Given the description of an element on the screen output the (x, y) to click on. 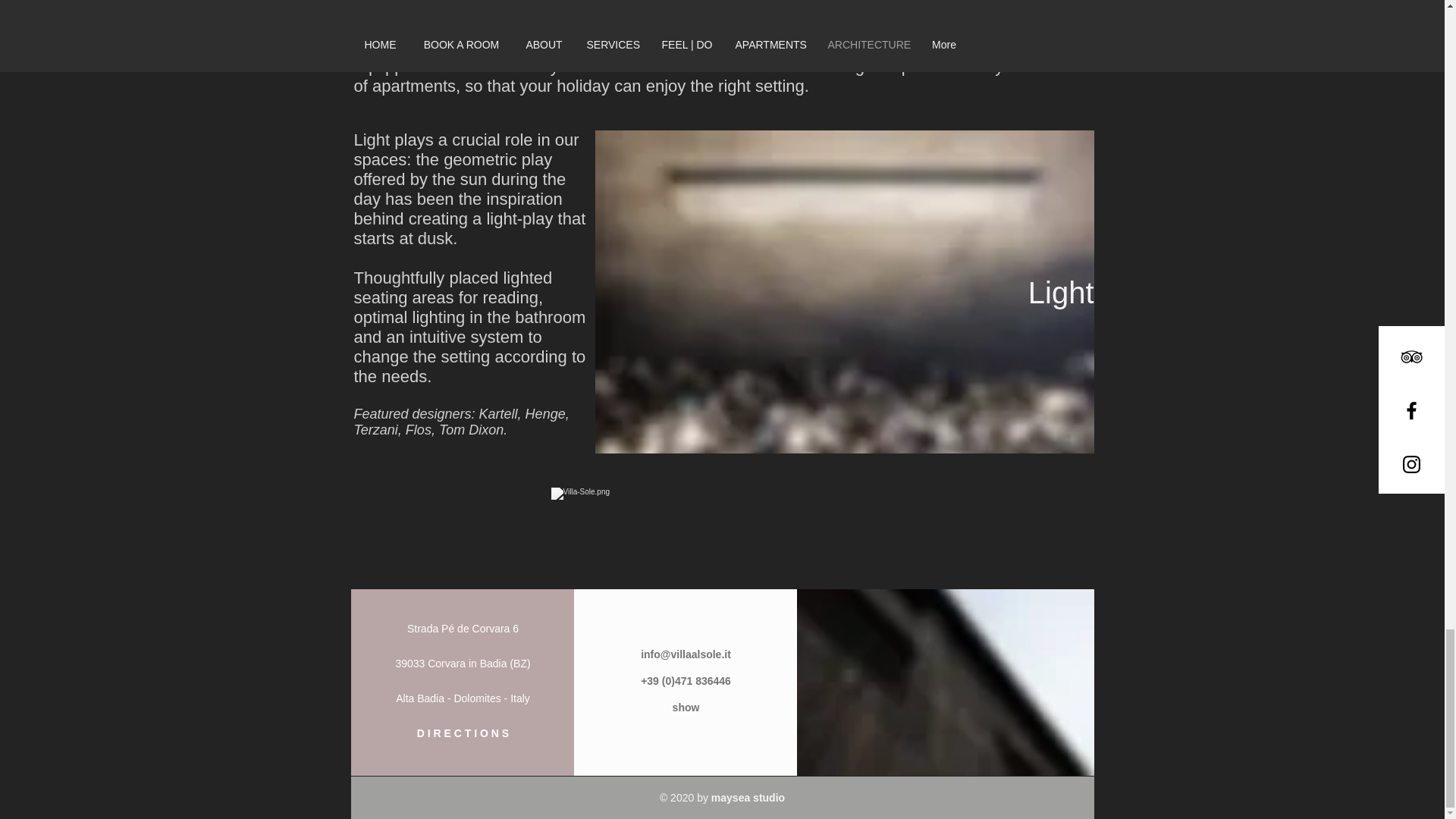
D I R E C T I O N S (462, 732)
show (686, 707)
maysea studio (747, 797)
